Given the description of an element on the screen output the (x, y) to click on. 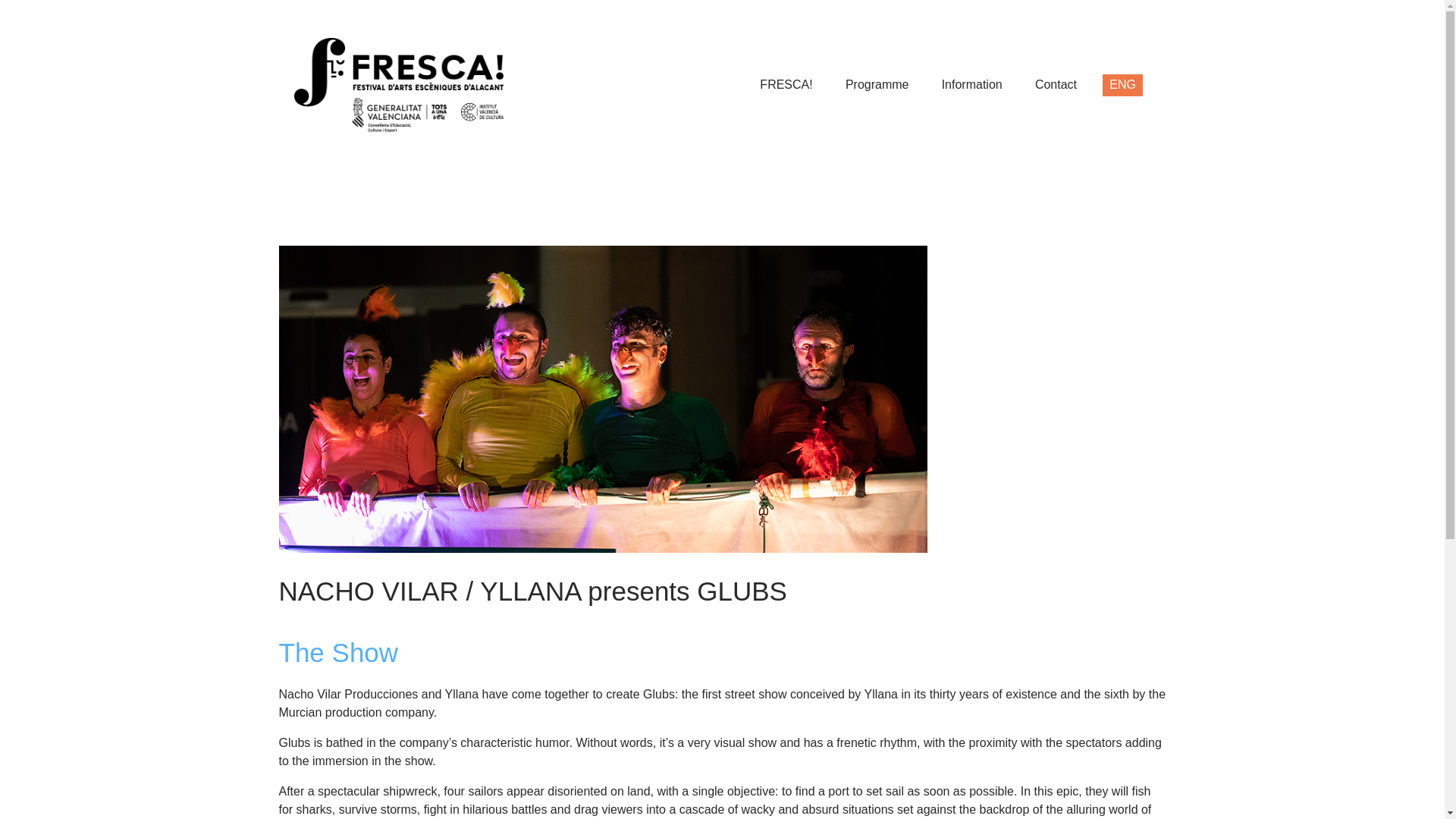
Information (971, 85)
ENG (1122, 85)
Contact (1055, 85)
Programme (876, 85)
FRESCA! (786, 85)
